Given the description of an element on the screen output the (x, y) to click on. 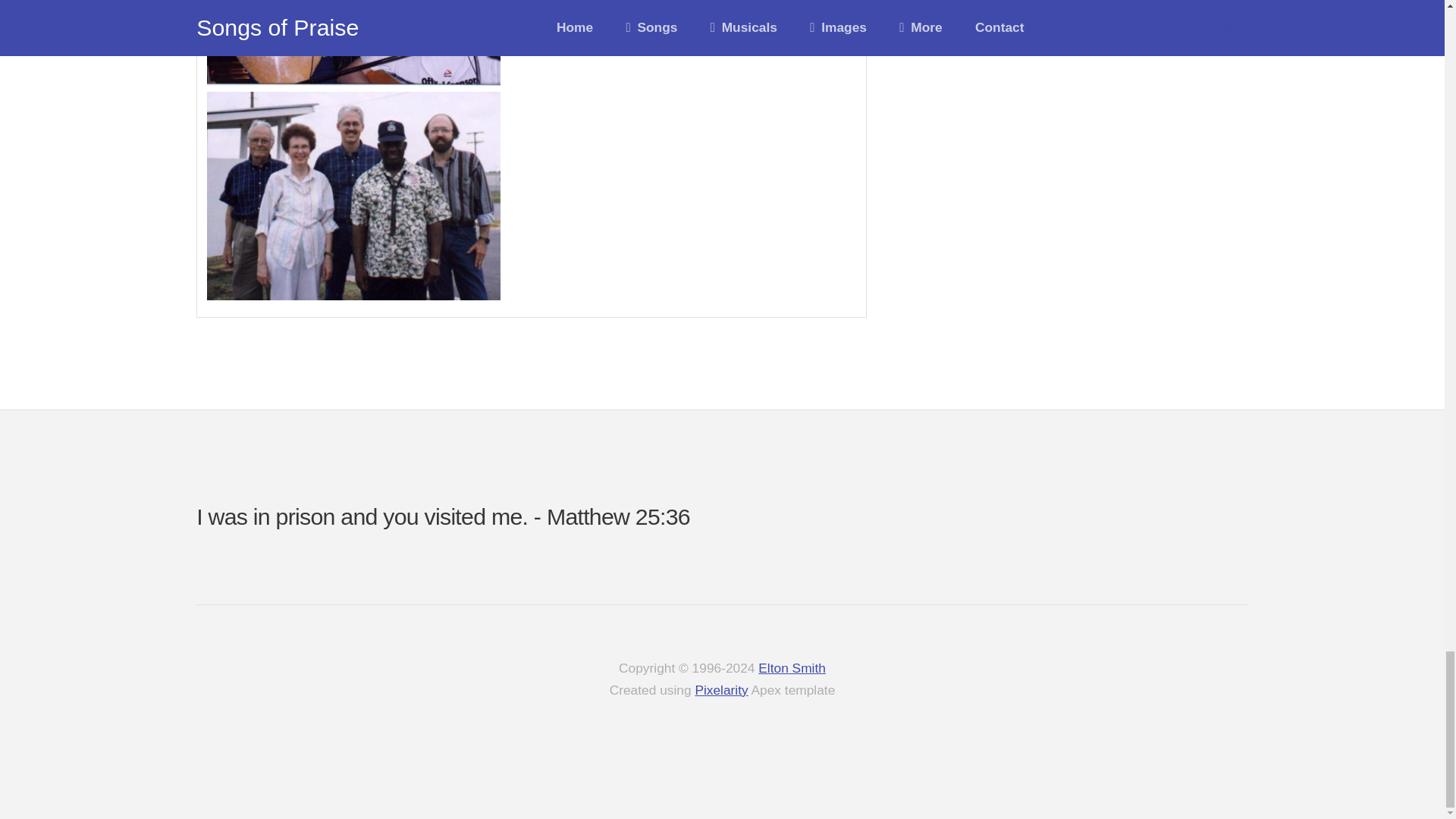
Pixelarity (721, 689)
Elton Smith (791, 667)
